Given the description of an element on the screen output the (x, y) to click on. 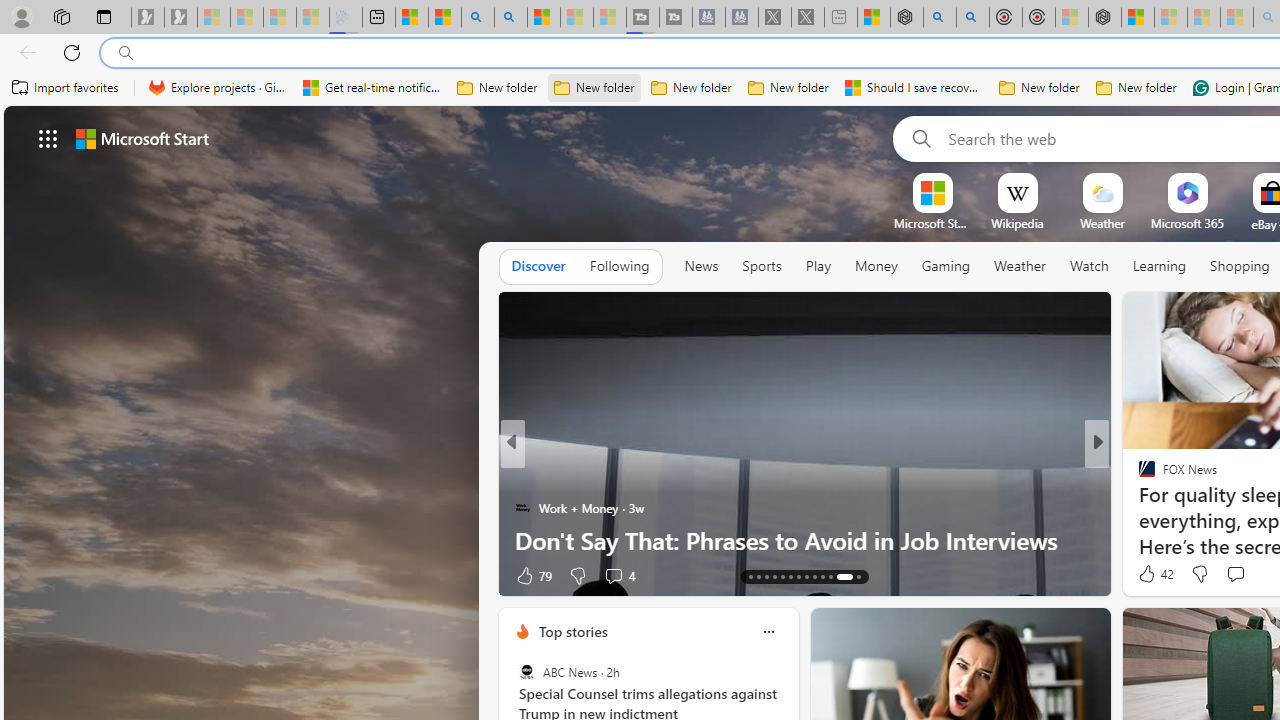
49 Like (1149, 574)
AutomationID: waffle (47, 138)
AutomationID: tab-14 (757, 576)
Import favorites (65, 88)
Shopping (1240, 265)
